Given the description of an element on the screen output the (x, y) to click on. 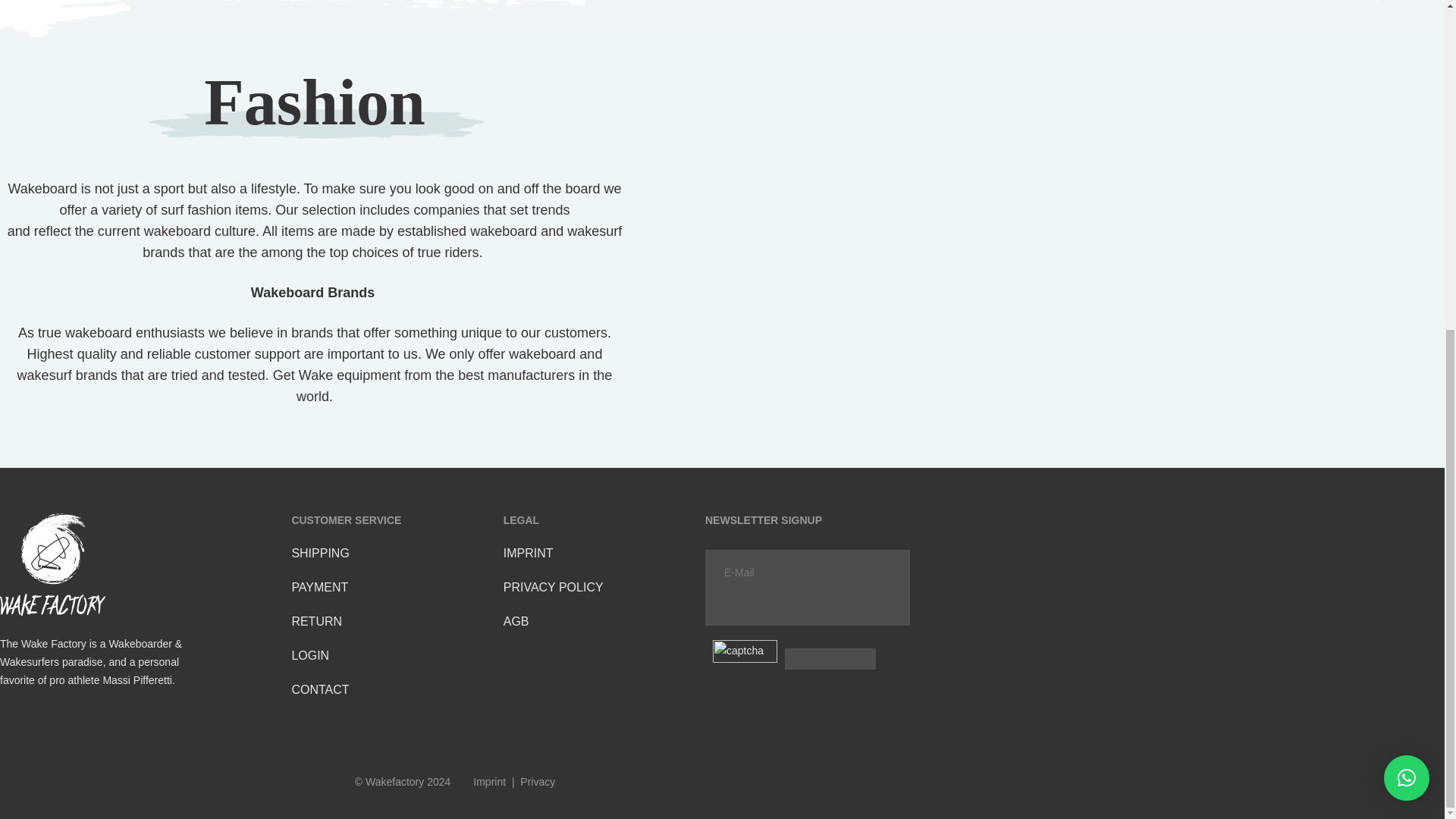
Imprint (489, 781)
SHIPPING (320, 553)
AGB (516, 621)
RETURN (316, 621)
Send (891, 670)
LOGIN (310, 655)
IMPRINT (528, 553)
PRIVACY POLICY (553, 586)
CONTACT (320, 689)
PAYMENT (319, 586)
